Given the description of an element on the screen output the (x, y) to click on. 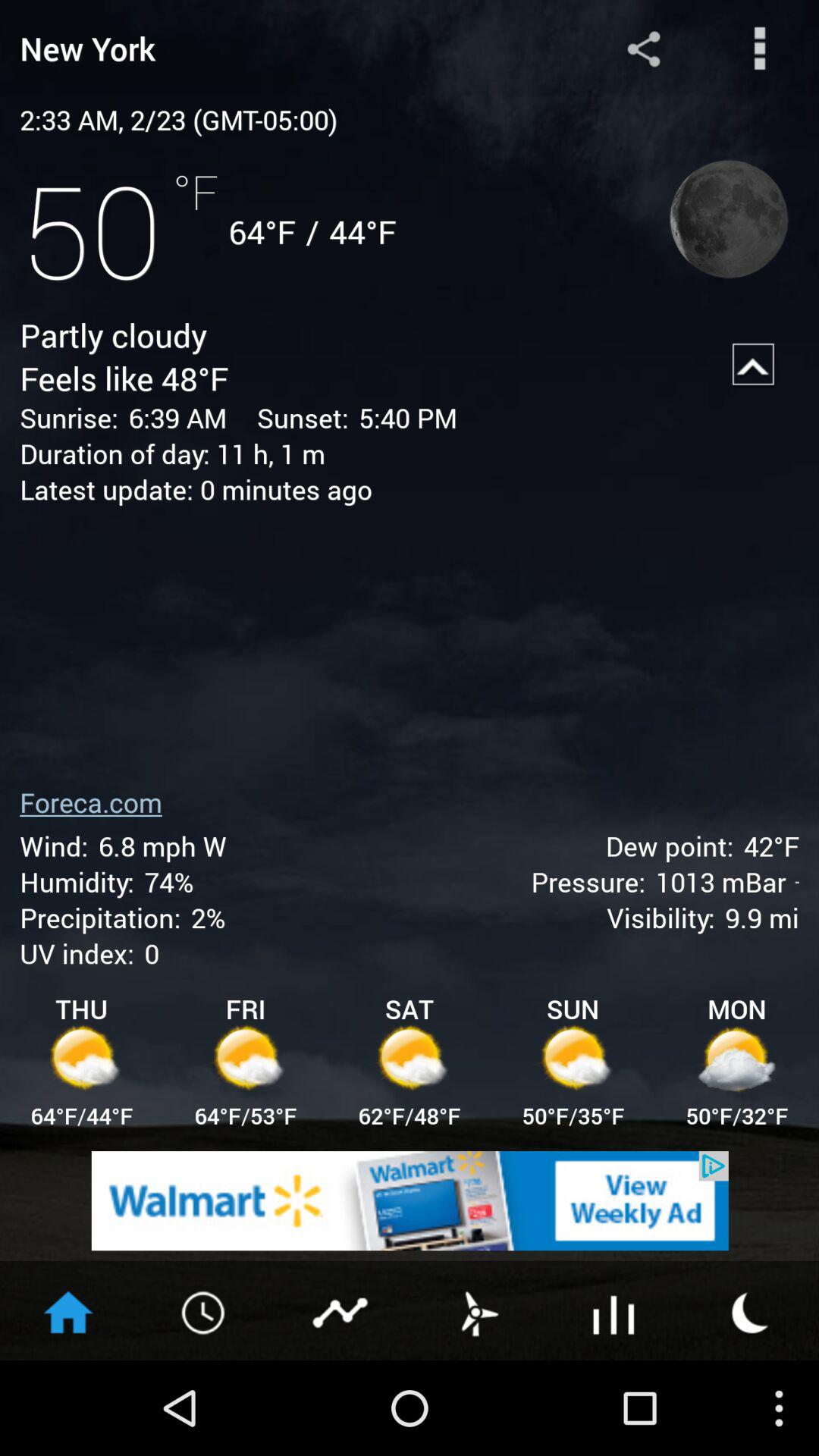
show statistics (341, 1311)
